Given the description of an element on the screen output the (x, y) to click on. 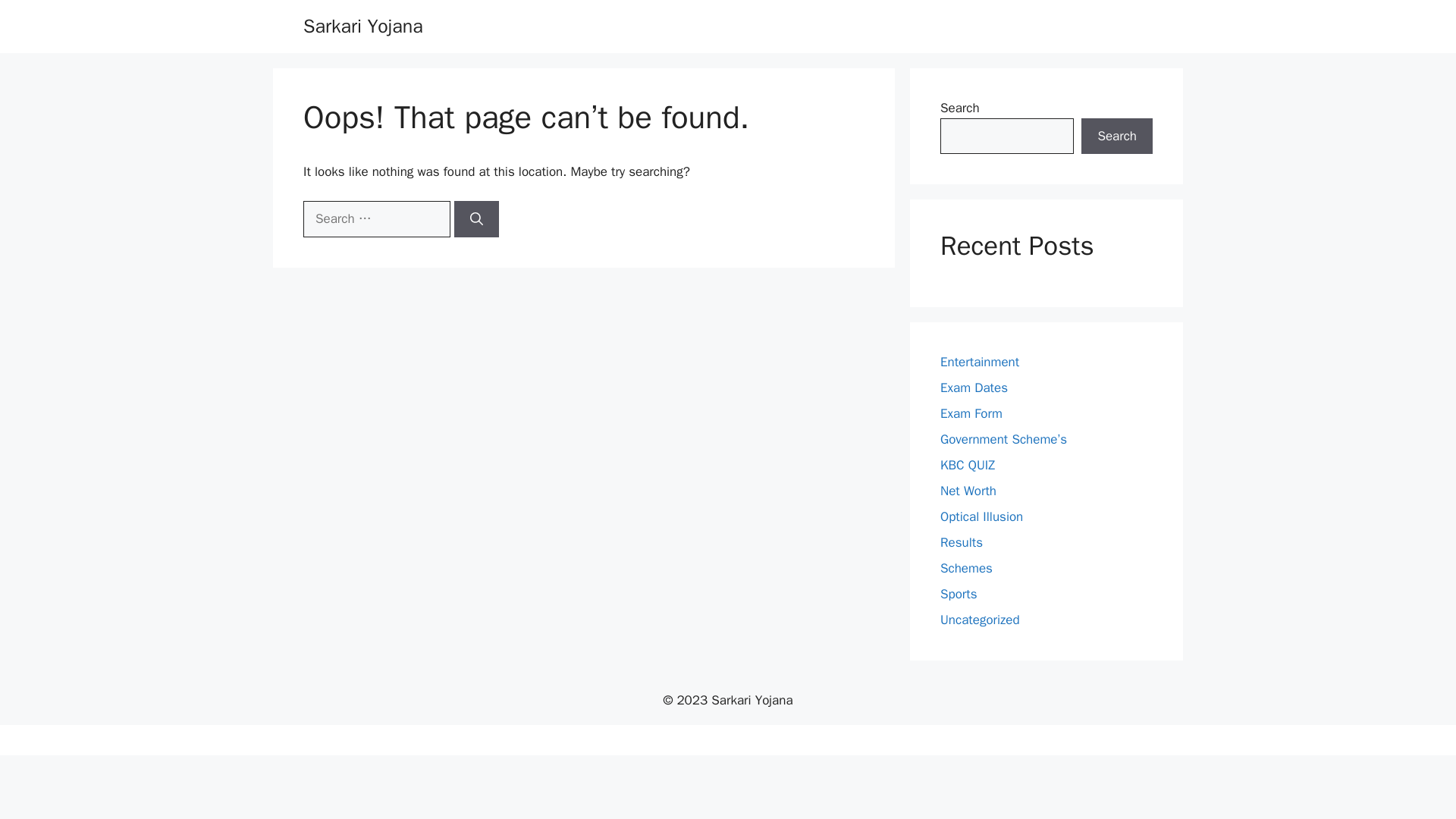
Sports (958, 593)
Exam Dates (973, 387)
Uncategorized (980, 619)
Entertainment (979, 361)
Optical Illusion (981, 516)
Sarkari Yojana (362, 25)
Search (1117, 135)
KBC QUIZ (967, 465)
Search for: (375, 218)
Exam Form (971, 413)
Results (961, 542)
Net Worth (967, 490)
Schemes (966, 568)
